Given the description of an element on the screen output the (x, y) to click on. 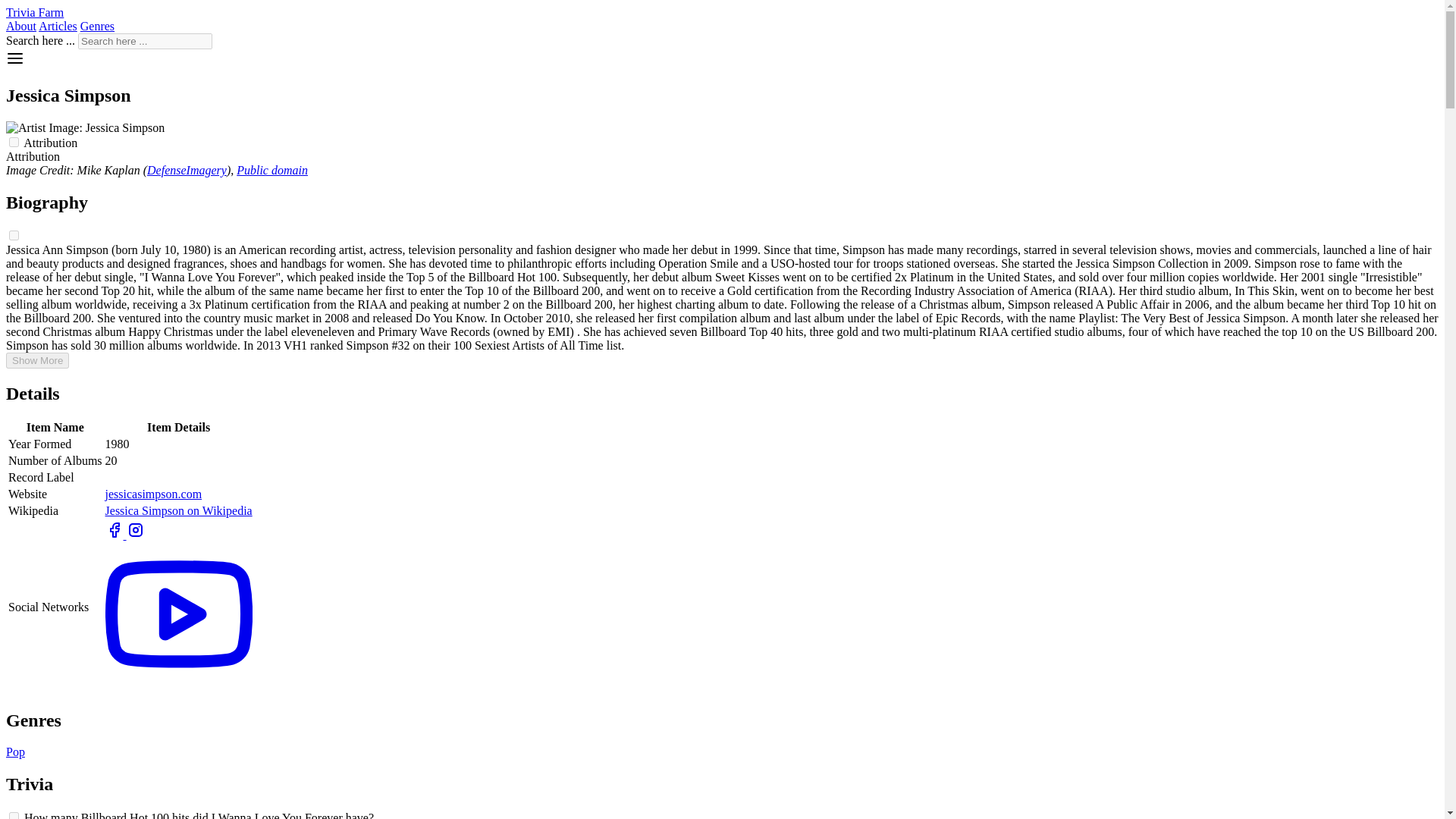
About (20, 25)
Articles (58, 25)
Trivia Farm (34, 11)
Jessica Simpson on Facebook (115, 534)
jessicasimpson.com (153, 493)
on (13, 235)
Genres (97, 25)
Pop (14, 751)
Public domain (271, 169)
Jessica Simpson on Youtube (177, 685)
on (13, 142)
DefenseImagery (187, 169)
on (13, 815)
Jessica Simpson on Instagram (135, 534)
Show More (36, 360)
